Given the description of an element on the screen output the (x, y) to click on. 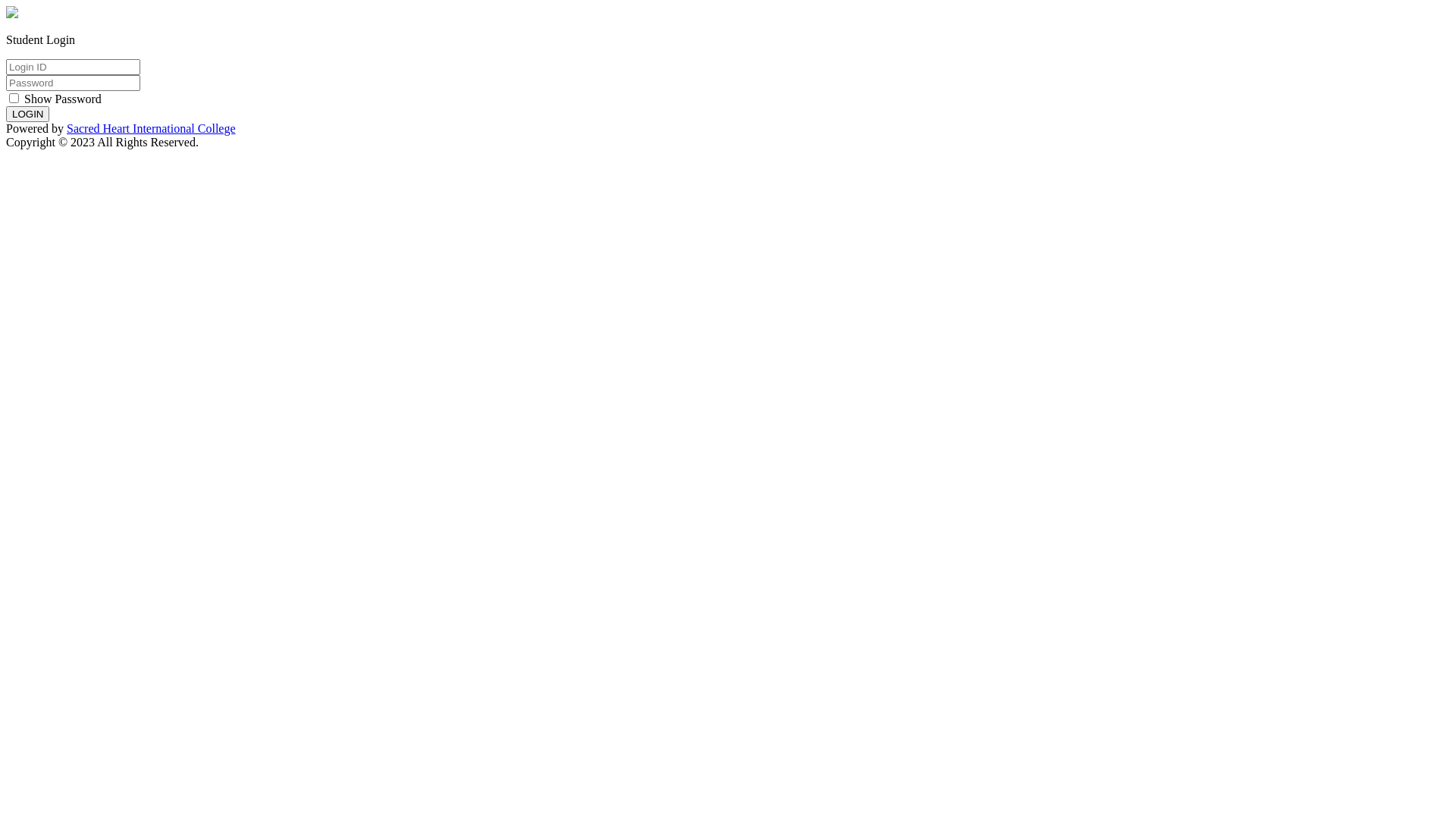
Sacred Heart International College Element type: text (150, 128)
Enter Student Login Id Element type: hover (73, 67)
LOGIN Element type: text (27, 114)
Show Password Element type: text (53, 98)
on Element type: text (13, 98)
Enter Password Element type: hover (73, 83)
